Given the description of an element on the screen output the (x, y) to click on. 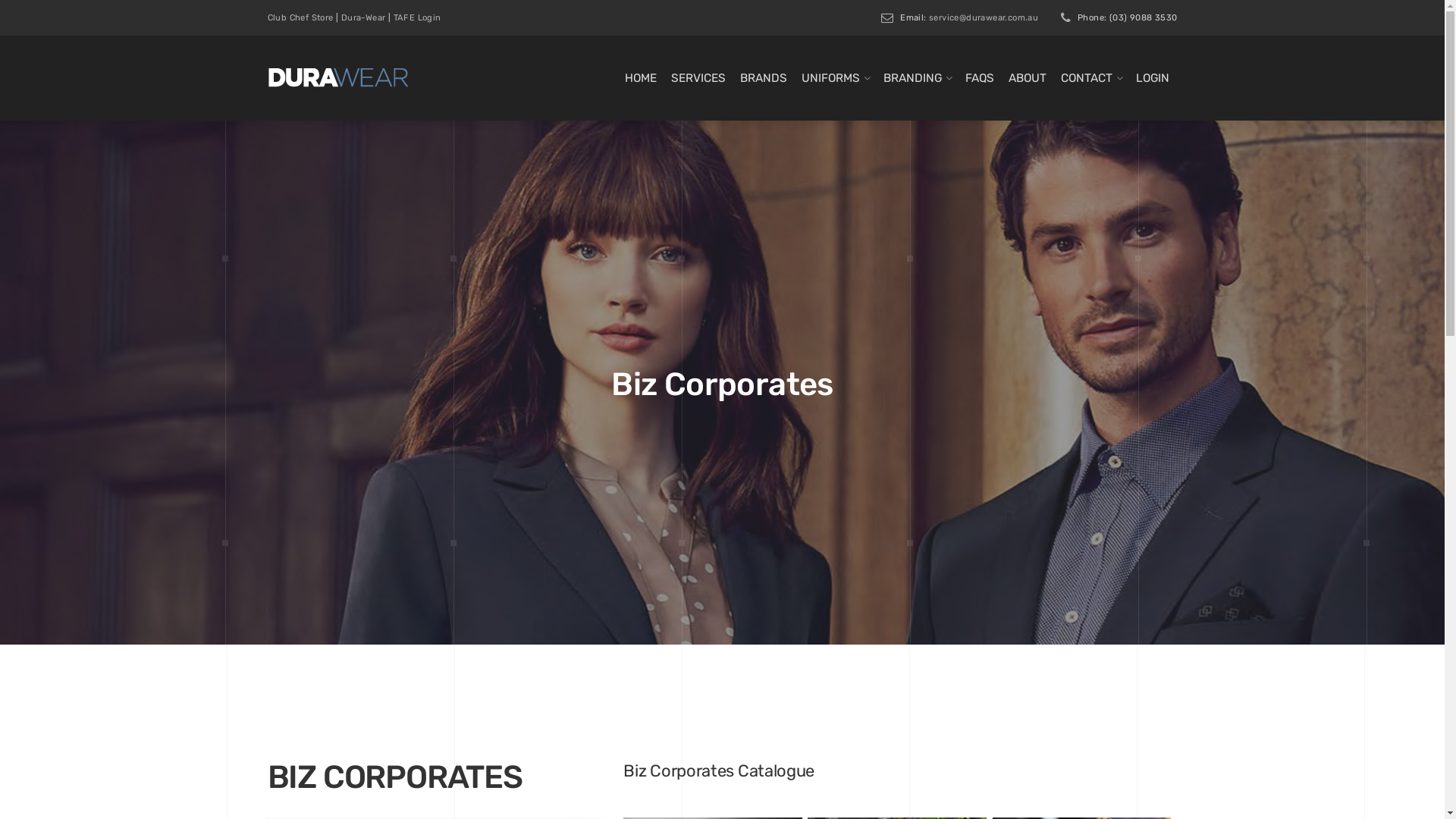
LOGIN Element type: text (1152, 77)
CONTACT Element type: text (1085, 77)
Dura-Wear Element type: text (363, 17)
HOME Element type: text (640, 77)
SERVICES Element type: text (697, 77)
ABOUT Element type: text (1027, 77)
service@durawear.com.au Element type: text (983, 16)
UNIFORMS Element type: text (829, 77)
FAQS Element type: text (978, 77)
TAFE Login Element type: text (417, 17)
BRANDS Element type: text (763, 77)
BRANDING Element type: text (911, 77)
Club Chef Store Element type: text (299, 17)
